Given the description of an element on the screen output the (x, y) to click on. 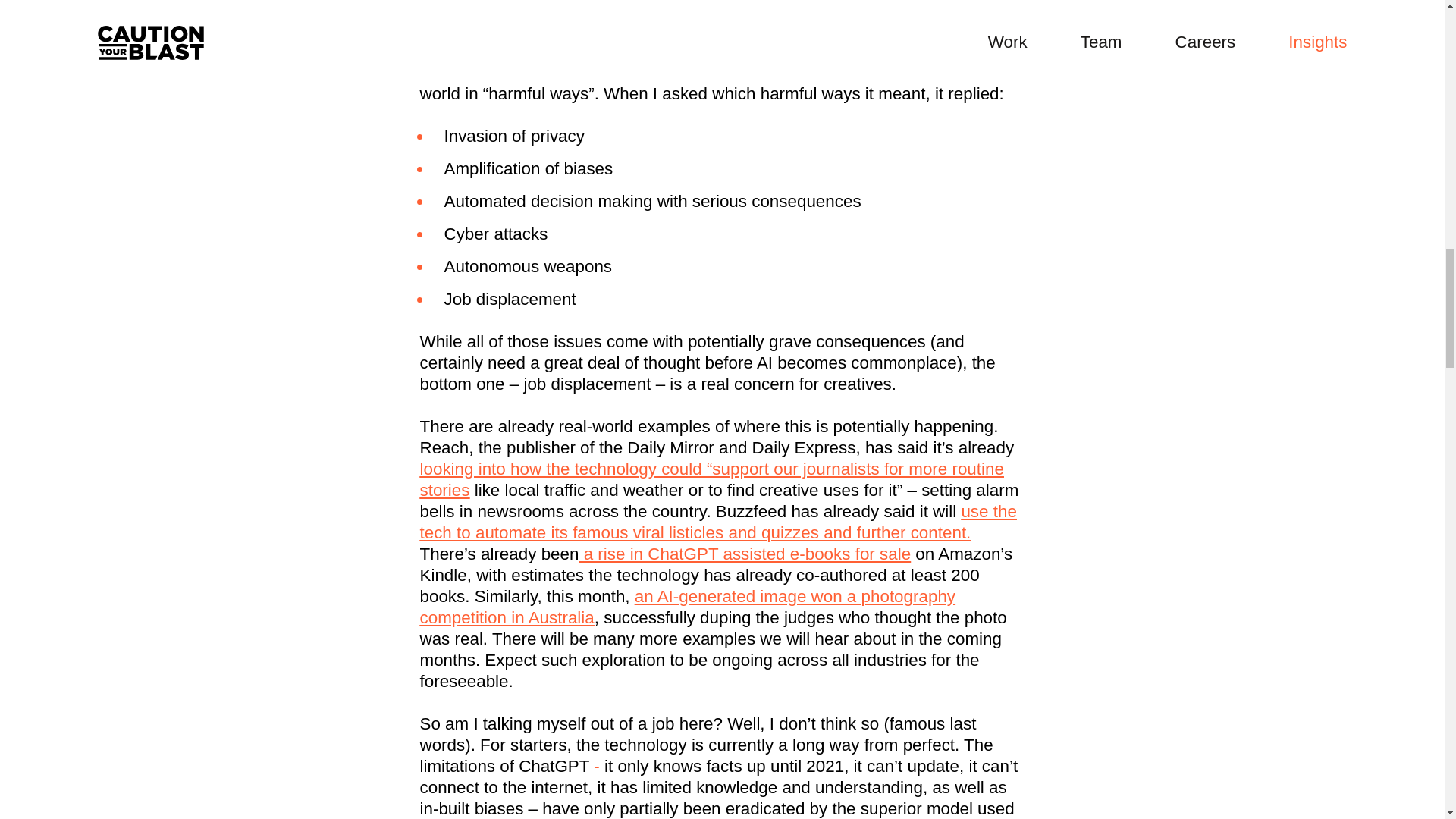
a rise in ChatGPT assisted e-books for sale (744, 553)
